Given the description of an element on the screen output the (x, y) to click on. 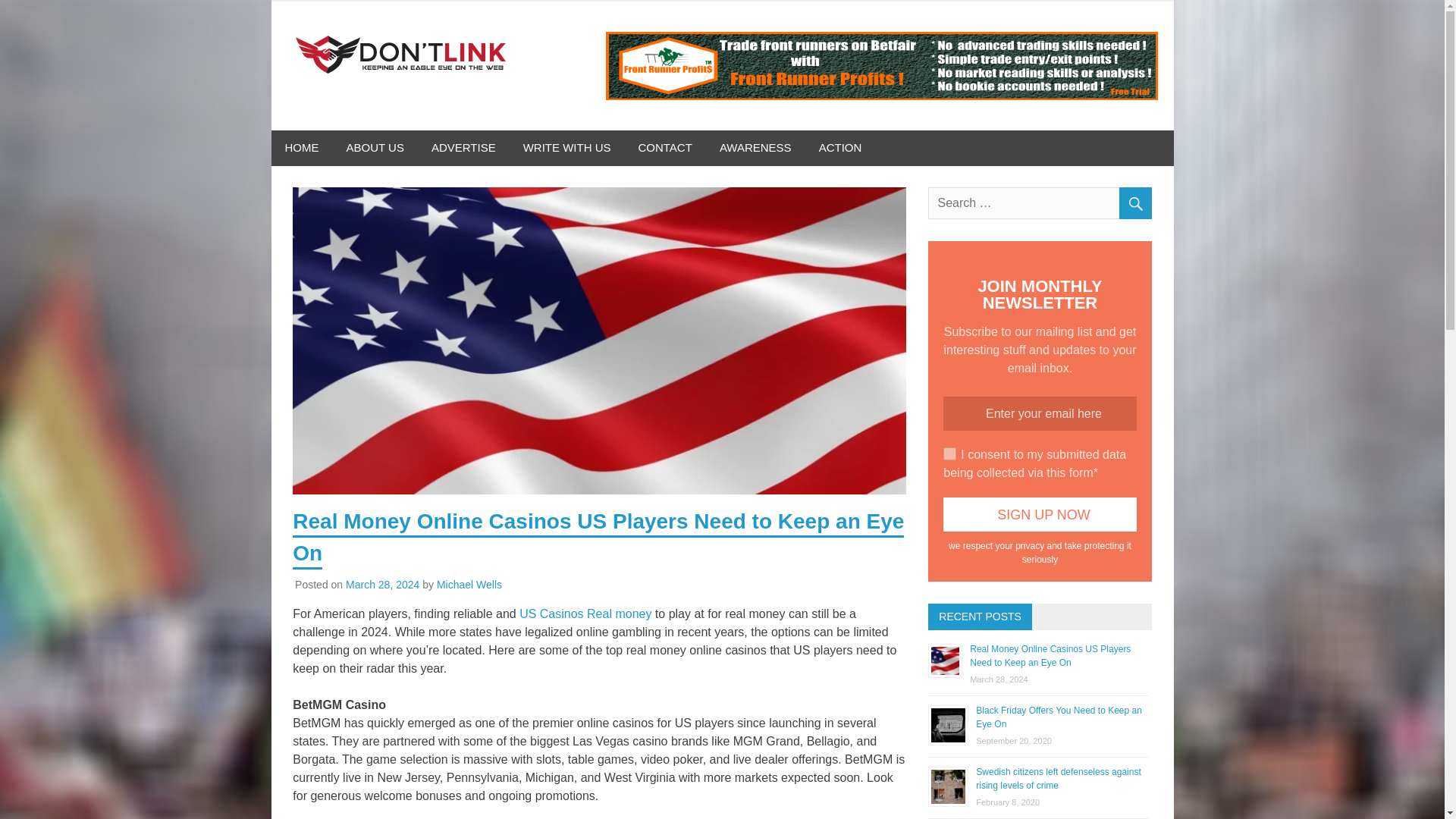
AWARENESS (755, 148)
Black Friday Offers You Need to Keep an Eye On (1058, 717)
Michael Wells (469, 584)
on (949, 453)
ADVERTISE (463, 148)
HOME (301, 148)
10:42 am (382, 584)
ABOUT US (373, 148)
Sign Up Now (1039, 514)
Real Money Online Casinos US Players Need to Keep an Eye On (1050, 655)
Permalink to Black Friday Offers You Need to Keep an Eye On (1058, 717)
View all posts by Michael Wells (469, 584)
Sign Up Now (1039, 514)
